Given the description of an element on the screen output the (x, y) to click on. 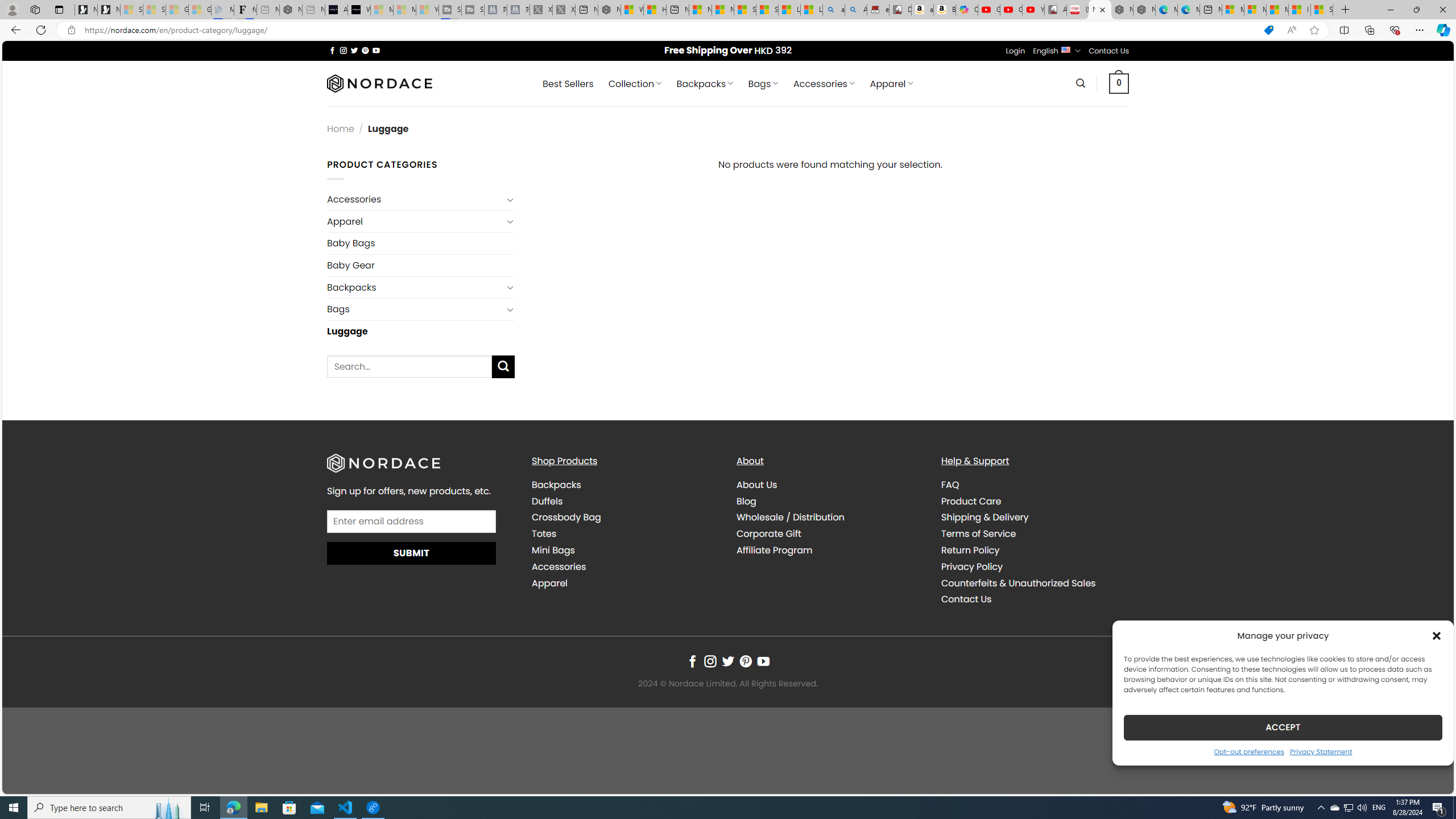
This site has coupons! Shopping in Microsoft Edge (1268, 29)
Class: cmplz-close (1436, 635)
Baby Gear (421, 264)
ACCEPT (1283, 727)
Apparel (549, 582)
Microsoft Start Sports - Sleeping (381, 9)
Bags (415, 309)
Copilot (966, 9)
FAQ (949, 484)
